Given the description of an element on the screen output the (x, y) to click on. 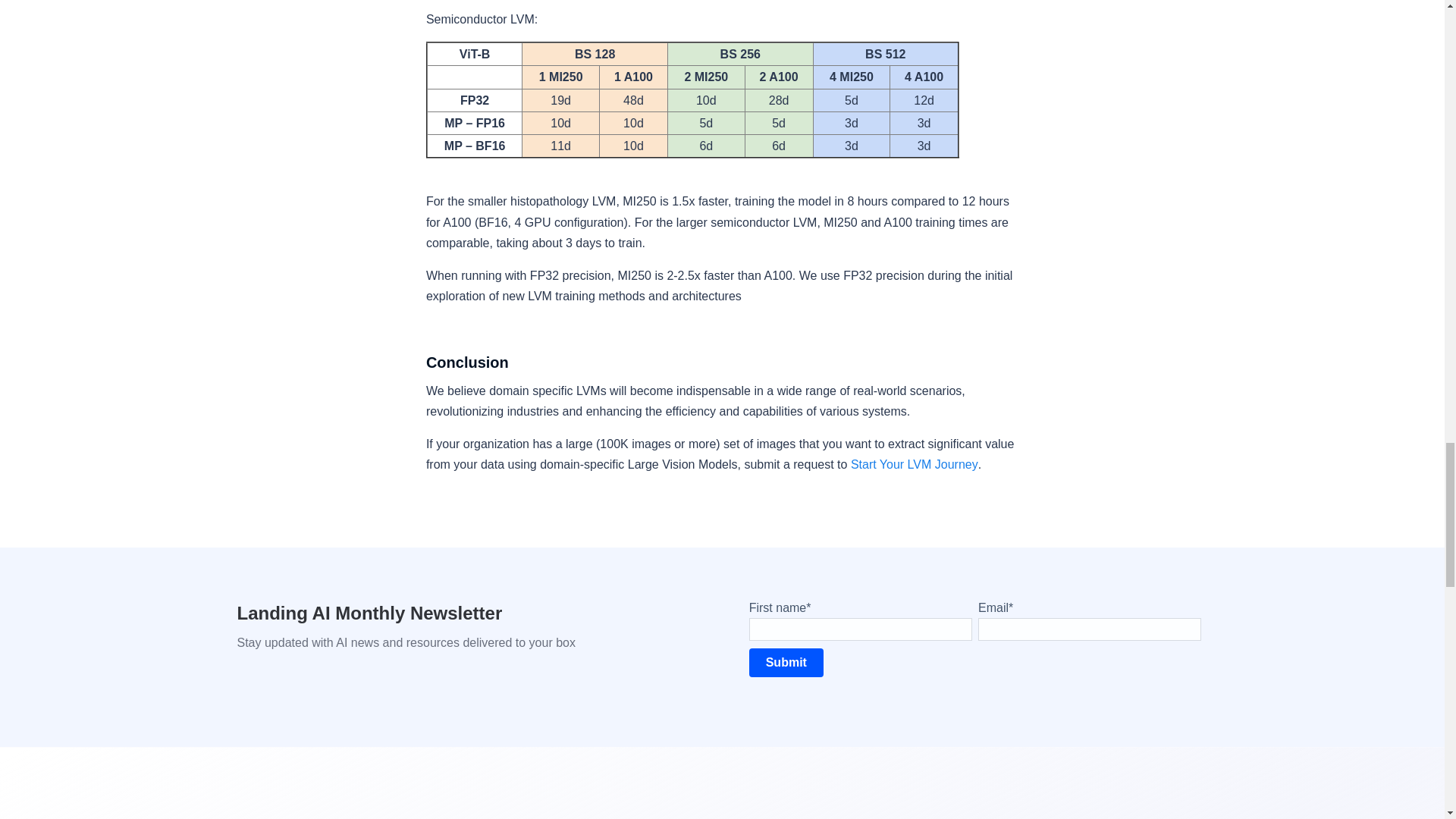
Submit (786, 662)
